Given the description of an element on the screen output the (x, y) to click on. 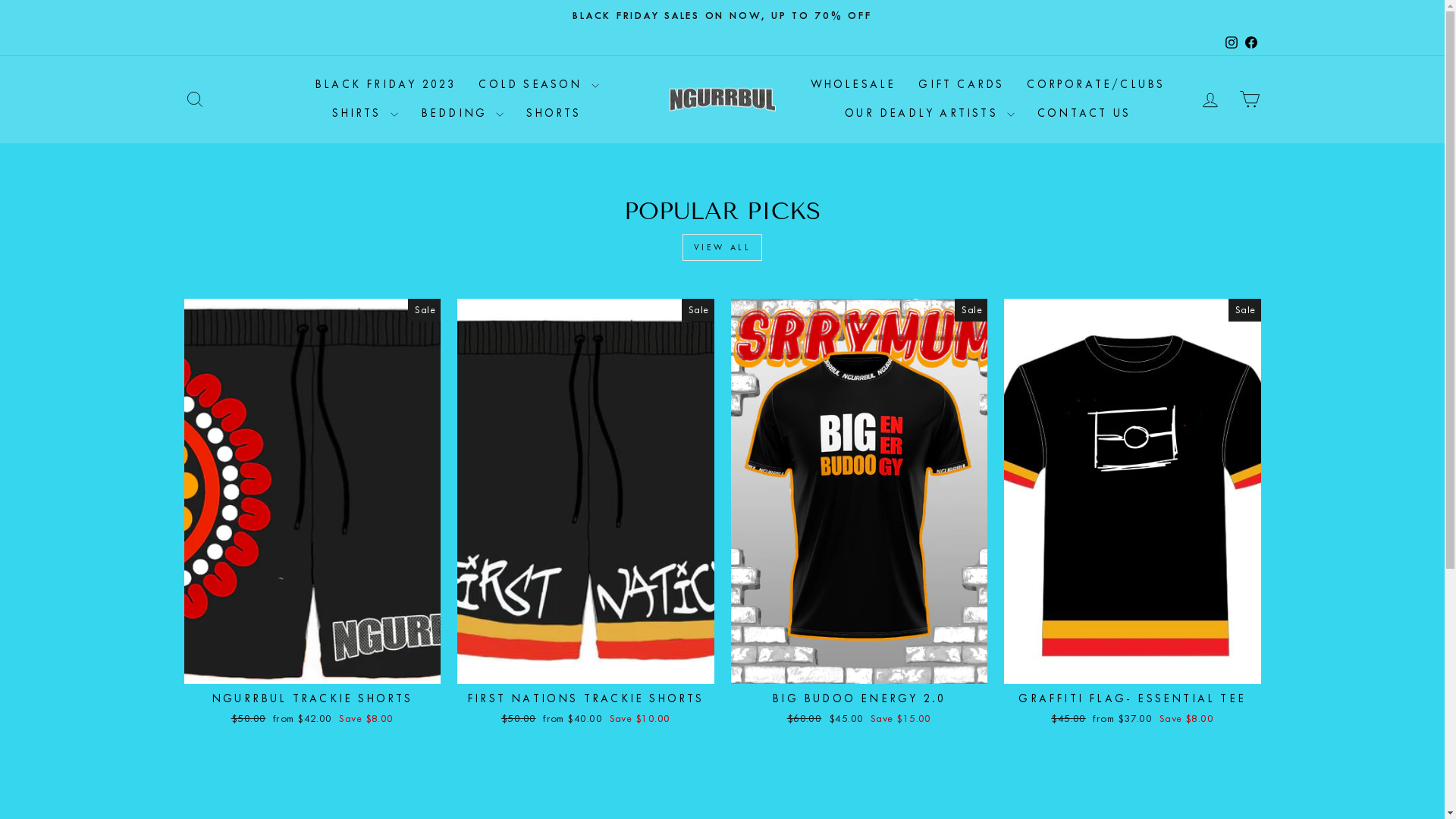
BLACK FRIDAY 2023 Element type: text (385, 85)
ICON-SEARCH
SEARCH Element type: text (193, 99)
CORPORATE/CLUBS Element type: text (1095, 85)
VIEW ALL Element type: text (722, 247)
SHORTS Element type: text (553, 113)
GIFT CARDS Element type: text (960, 85)
WHOLESALE Element type: text (853, 85)
instagram
Instagram Element type: text (1230, 42)
CART Element type: text (1249, 99)
Facebook Element type: text (1250, 42)
ACCOUNT
LOG IN Element type: text (1210, 99)
CONTACT US Element type: text (1084, 113)
